Given the description of an element on the screen output the (x, y) to click on. 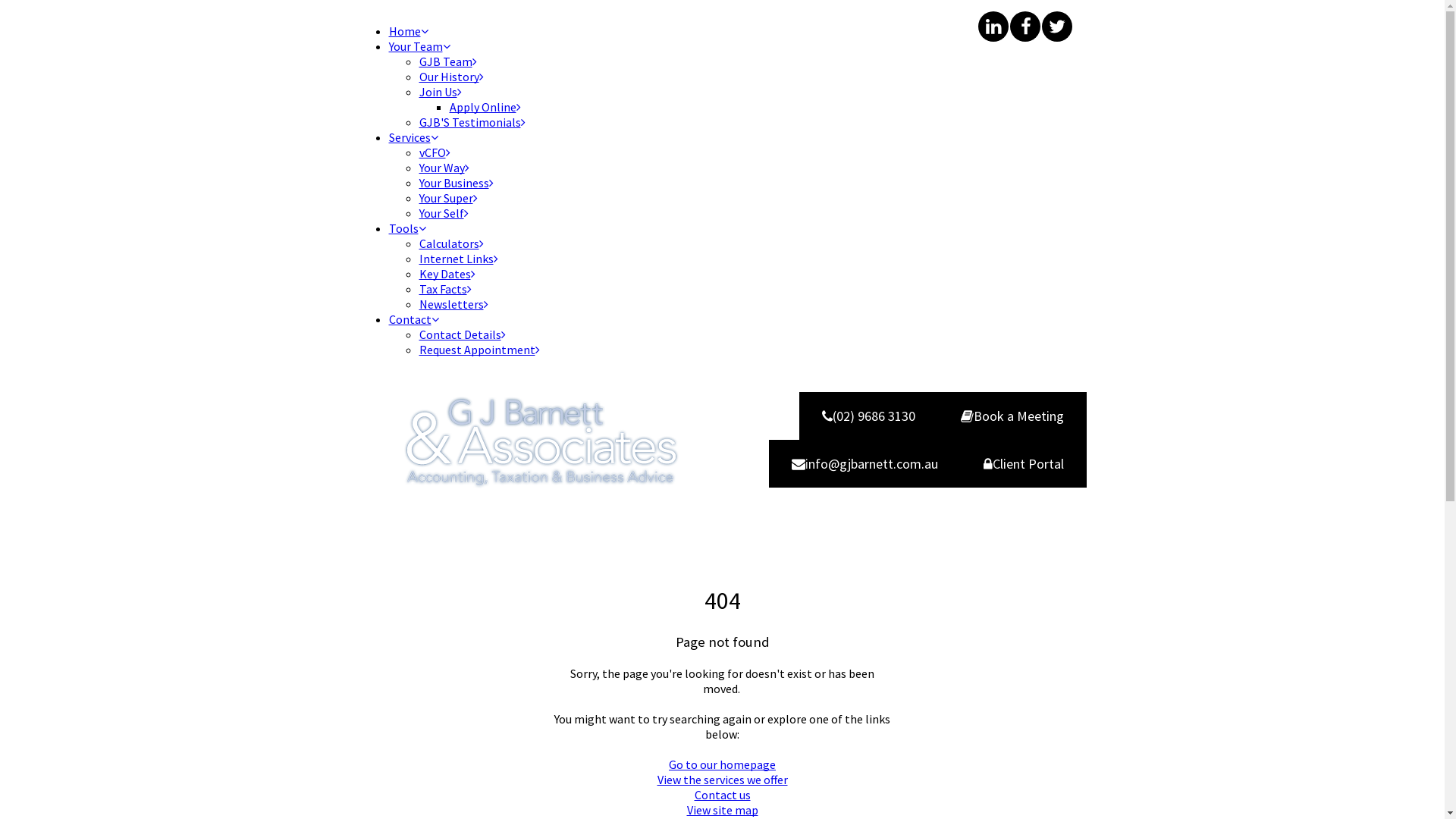
Request Appointment Element type: text (478, 349)
GJB'S Testimonials Element type: text (471, 121)
GJB Team Element type: text (447, 61)
Tax Facts Element type: text (444, 288)
Your Business Element type: text (455, 182)
Internet Links Element type: text (457, 258)
Calculators Element type: text (450, 243)
Contact Details Element type: text (461, 334)
Book a Meeting Element type: text (1012, 415)
Key Dates Element type: text (446, 273)
Services Element type: text (412, 136)
Apply Online Element type: text (484, 106)
Home Element type: text (407, 30)
vCFO Element type: text (433, 152)
info@gjbarnett.com.au Element type: text (864, 463)
Join Us Element type: text (439, 91)
(02) 9686 3130 Element type: text (868, 415)
Your Super Element type: text (447, 197)
Your Self Element type: text (442, 212)
Contact us Element type: text (722, 794)
Your Way Element type: text (443, 167)
Client Portal Element type: text (1023, 463)
Tools Element type: text (406, 227)
Your Team Element type: text (418, 45)
View the services we offer Element type: text (721, 779)
Our History Element type: text (450, 76)
Contact Element type: text (413, 318)
Newsletters Element type: text (452, 303)
Go to our homepage Element type: text (721, 763)
View site map Element type: text (722, 809)
